Given the description of an element on the screen output the (x, y) to click on. 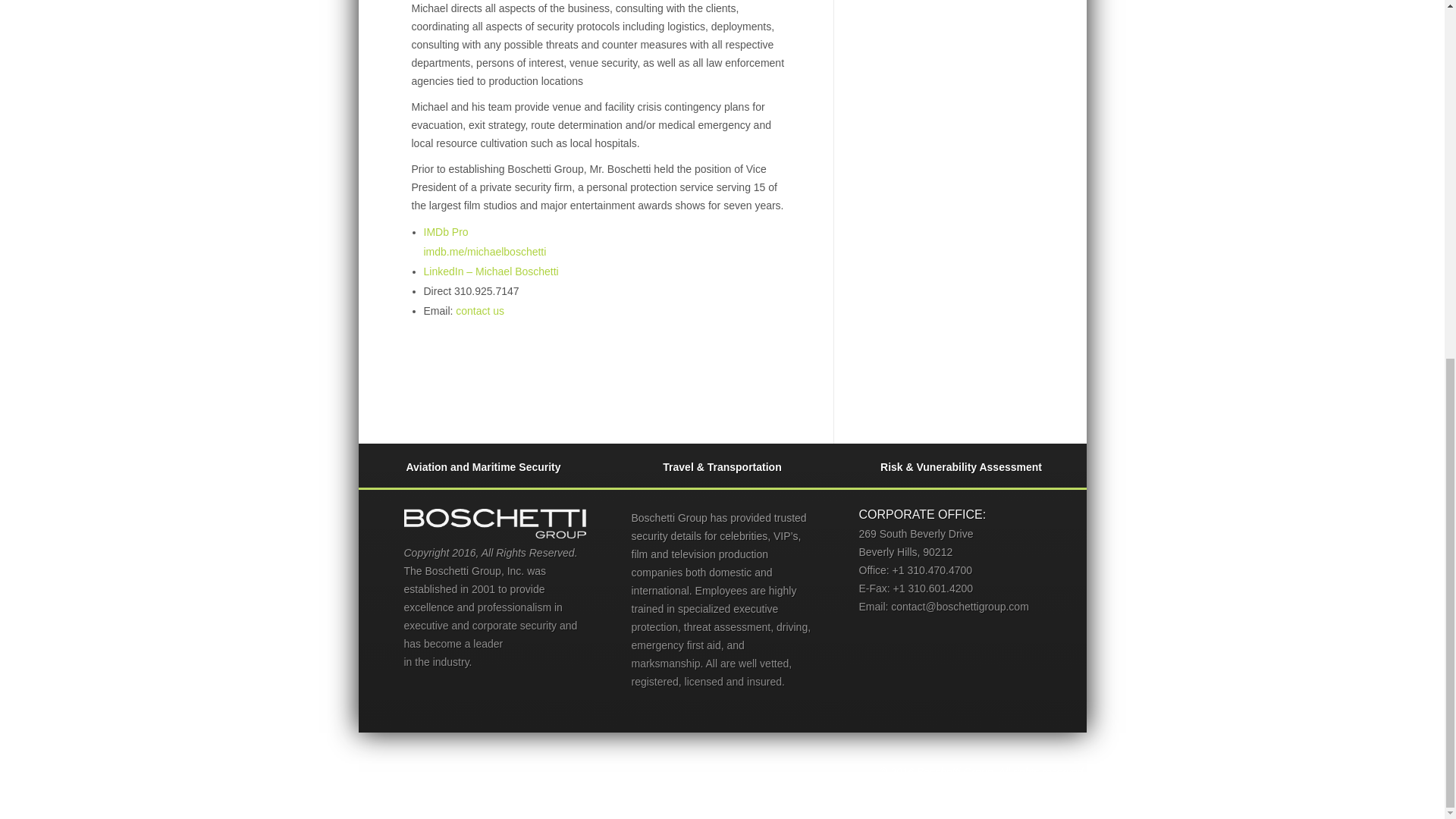
LinkedIn - Michael Boschetti (490, 271)
IMDb Pro (445, 232)
IMDB - Michael Boschetti (484, 261)
contact us (479, 310)
IMDB - Michael Boschetti (445, 232)
